Given the description of an element on the screen output the (x, y) to click on. 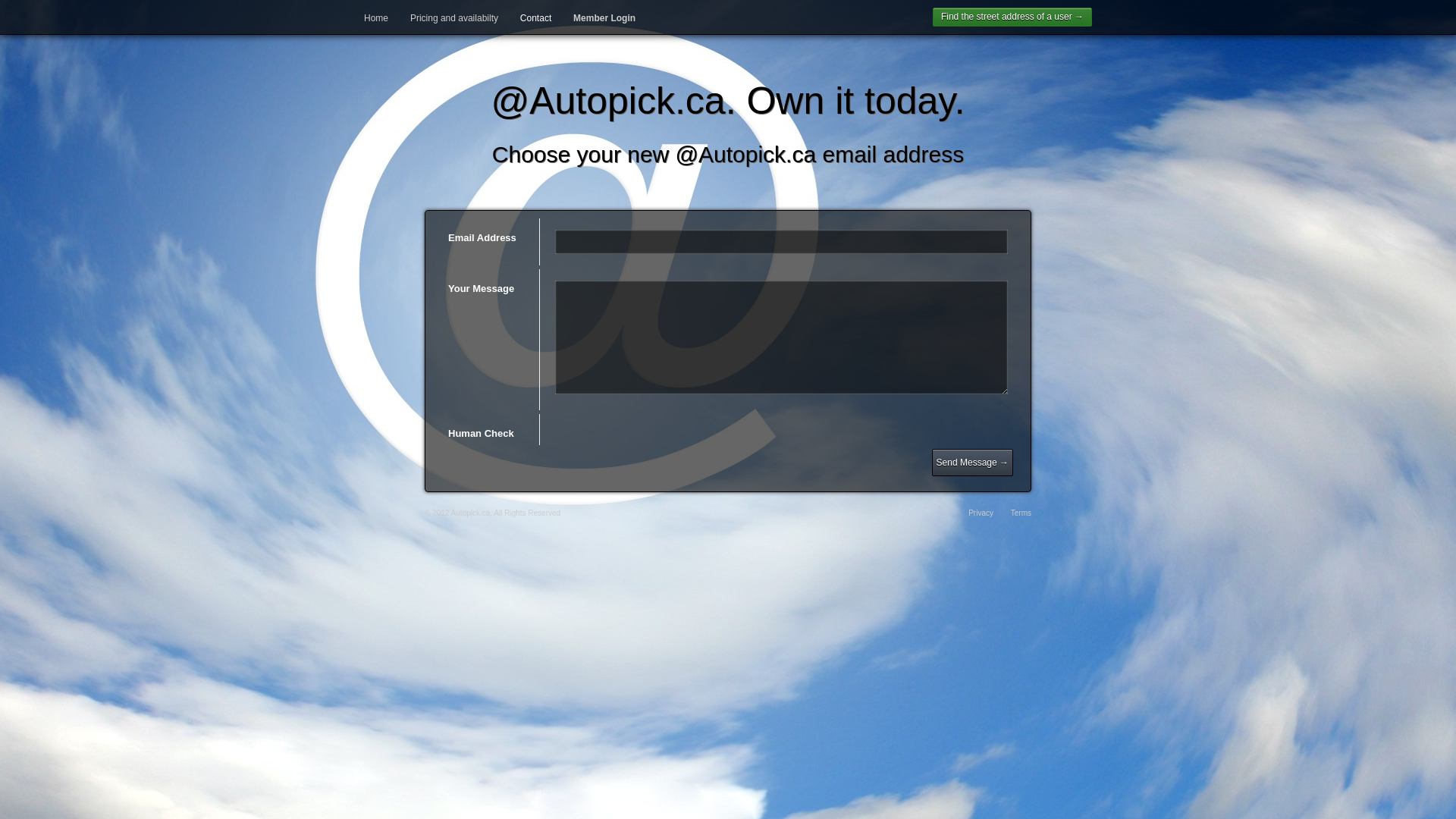
Member Login Element type: text (604, 17)
Privacy Element type: text (980, 512)
Home Element type: text (376, 17)
Terms Element type: text (1020, 512)
Contact Element type: text (535, 17)
Pricing and availabilty Element type: text (454, 17)
